Given the description of an element on the screen output the (x, y) to click on. 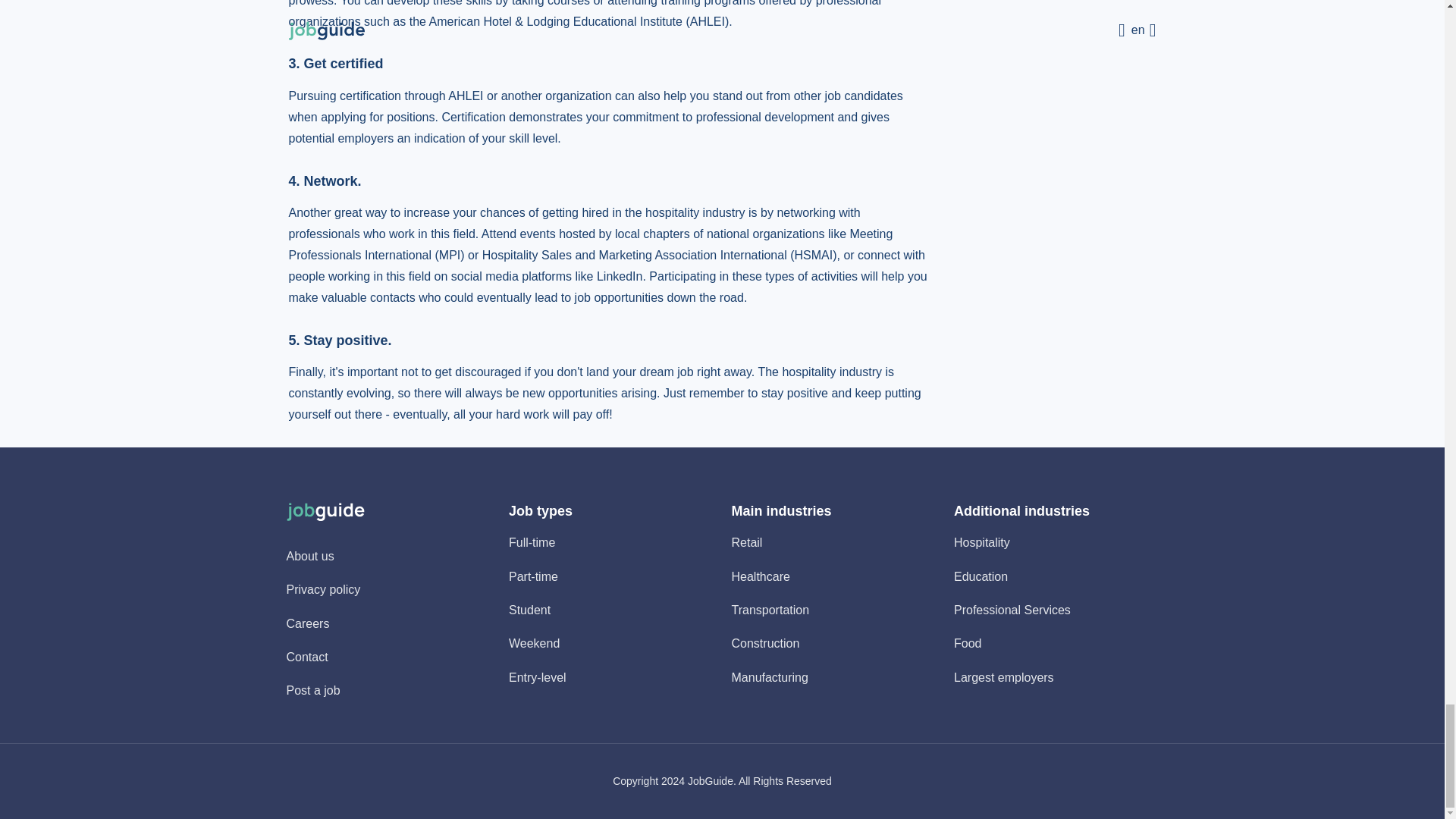
Privacy policy (323, 589)
About us (310, 555)
Careers (308, 623)
